Given the description of an element on the screen output the (x, y) to click on. 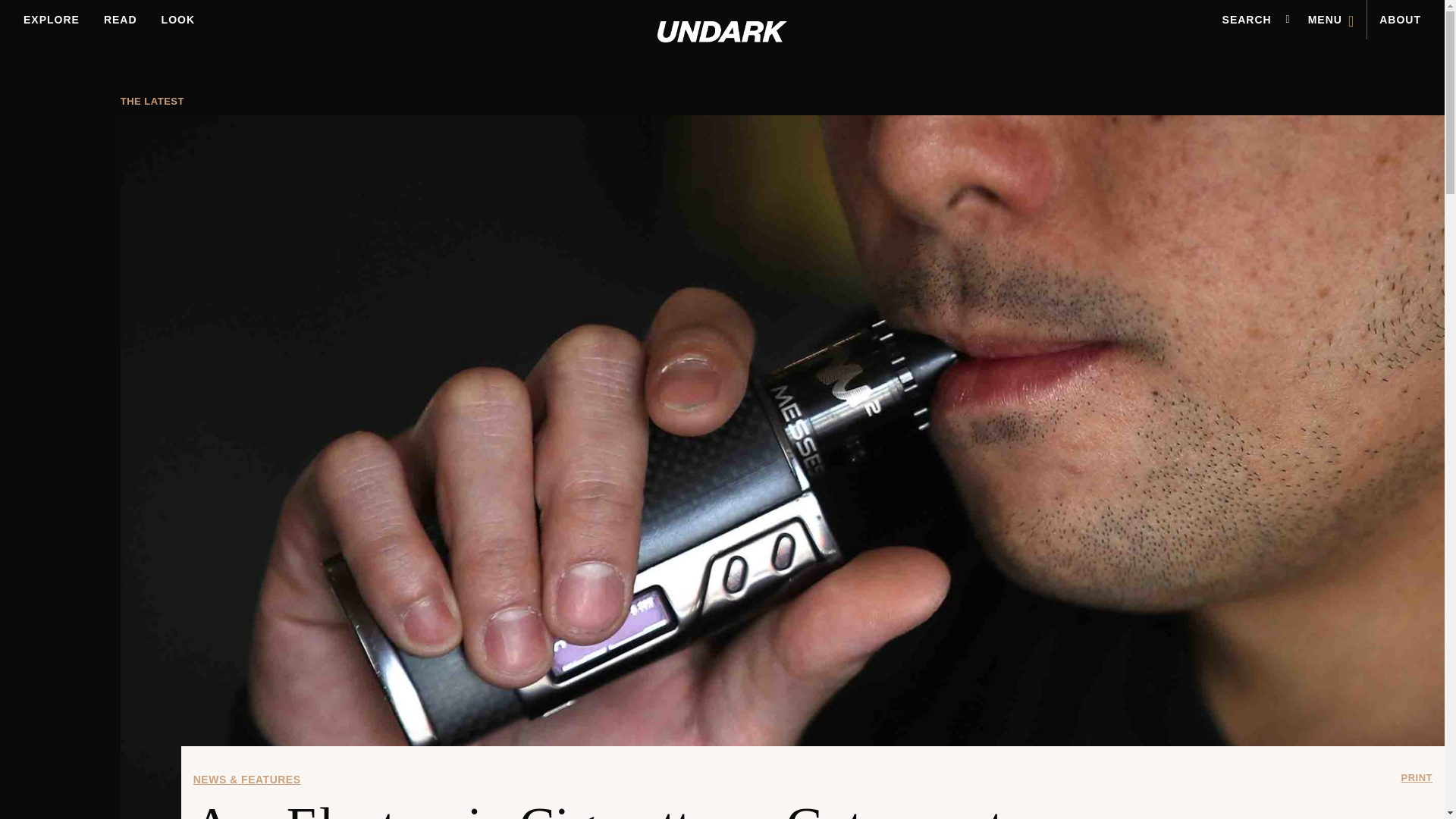
READ (120, 19)
ABOUT (1399, 19)
LOOK (177, 19)
SEARCH (1247, 19)
MENU (1331, 19)
EXPLORE (51, 19)
